Given the description of an element on the screen output the (x, y) to click on. 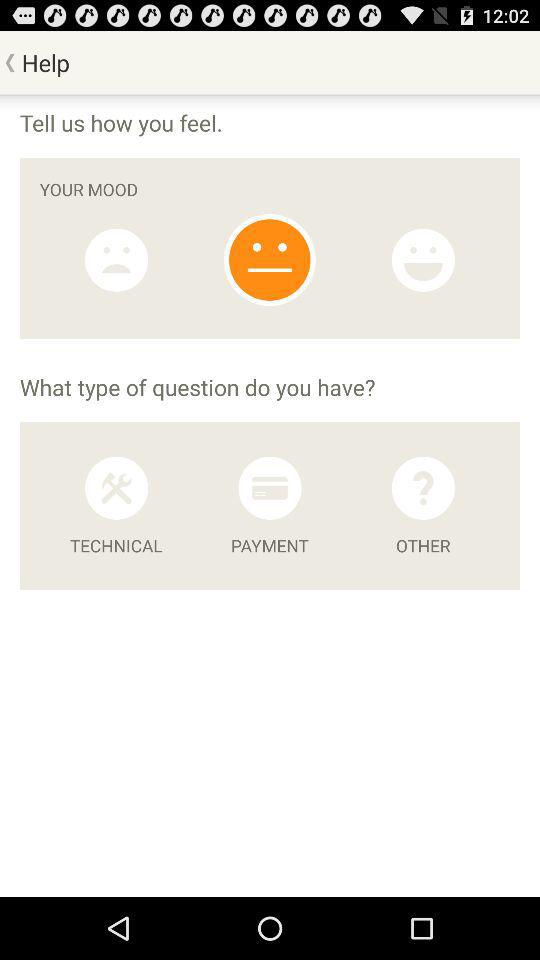
select option emojios (423, 260)
